Given the description of an element on the screen output the (x, y) to click on. 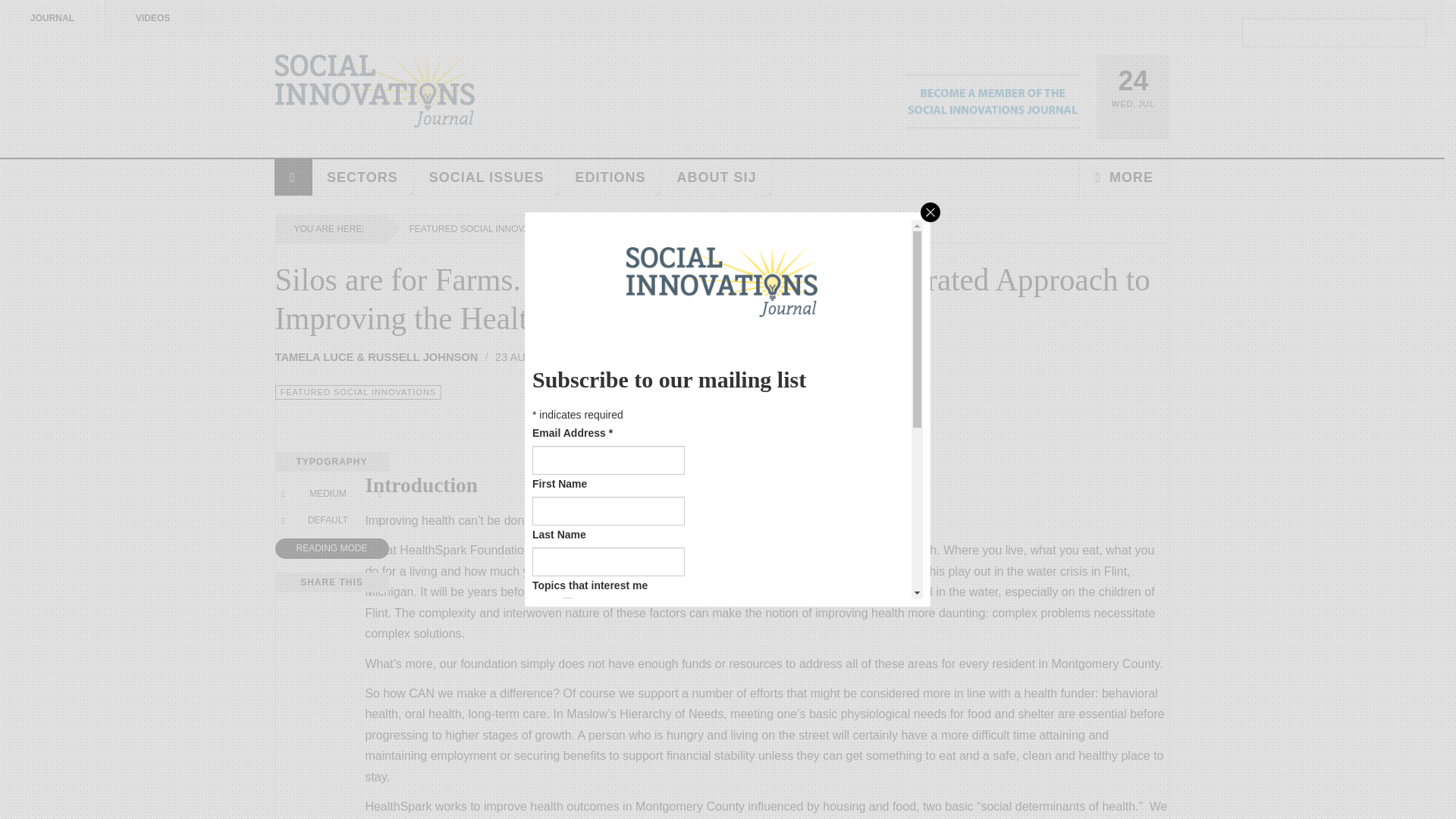
64 (567, 734)
16 (567, 690)
2 (567, 624)
Social Innovation Journal (374, 90)
32 (567, 712)
1 (567, 602)
256 (567, 777)
8 (567, 668)
512 (567, 800)
128 (567, 756)
4 (567, 646)
